Given the description of an element on the screen output the (x, y) to click on. 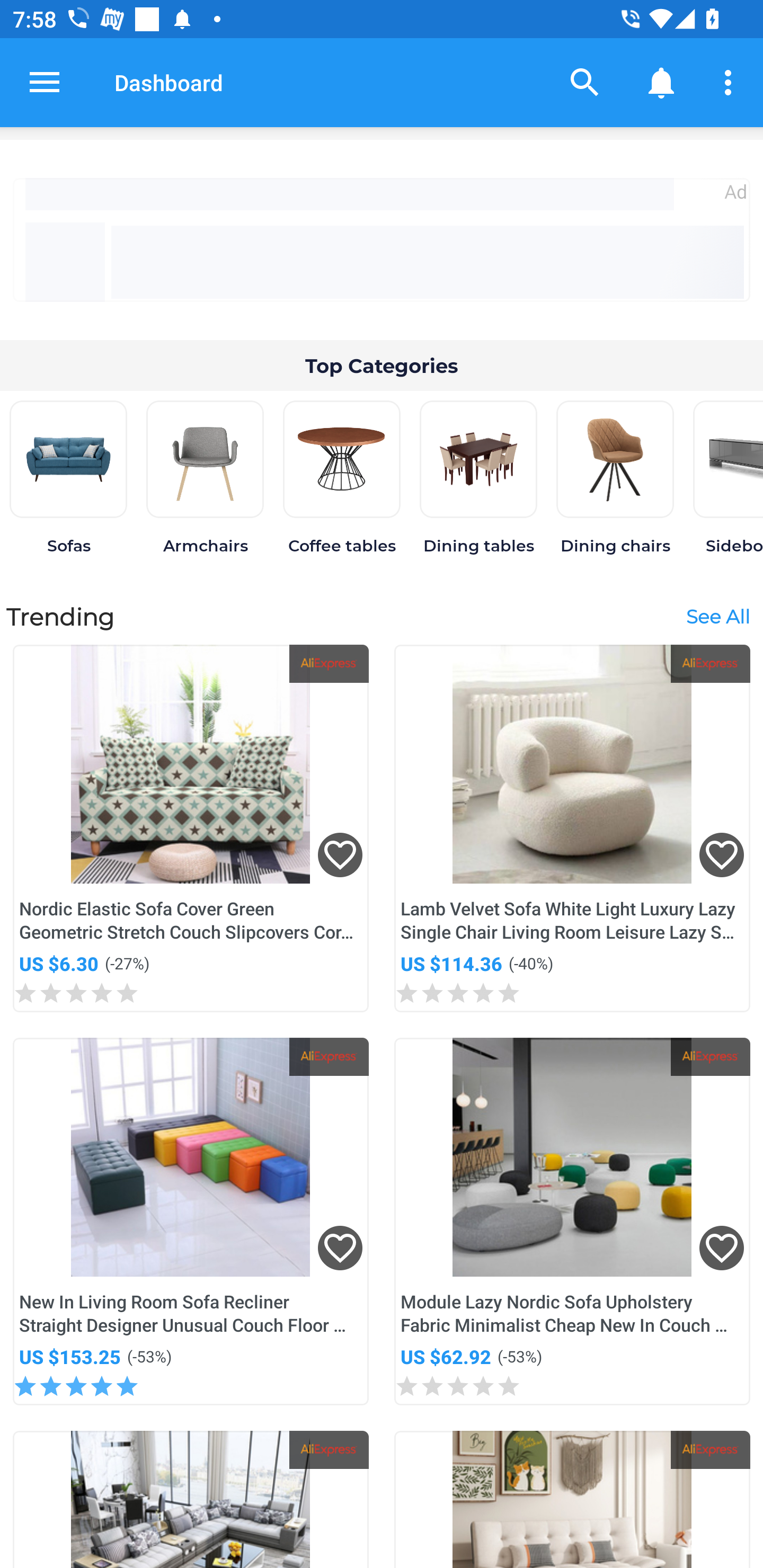
Open navigation drawer (44, 82)
Search (585, 81)
More options (731, 81)
See All (717, 615)
